Given the description of an element on the screen output the (x, y) to click on. 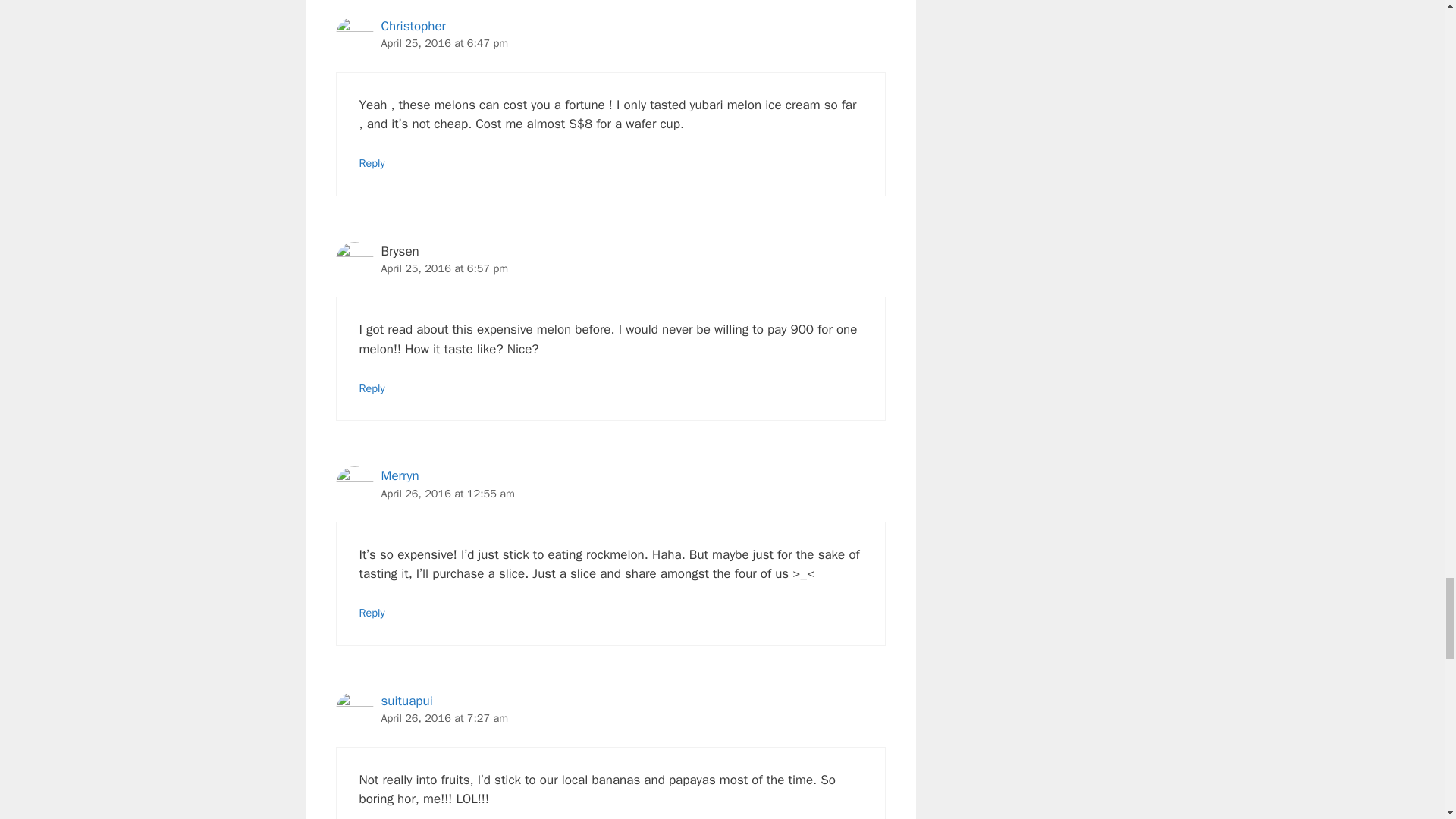
April 25, 2016 at 6:47 pm (444, 42)
Christopher (412, 26)
